Given the description of an element on the screen output the (x, y) to click on. 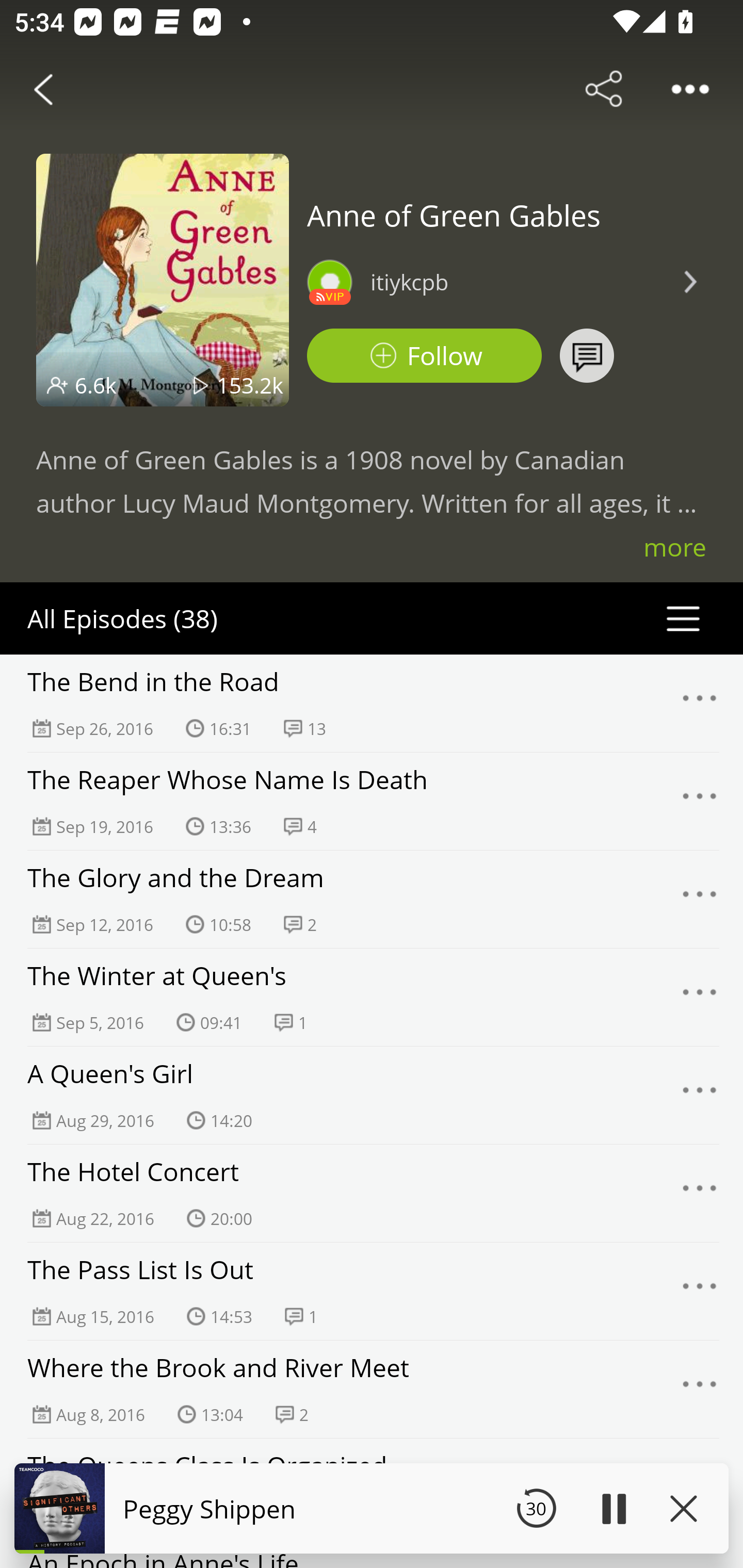
Back (43, 88)
Podbean Follow (423, 355)
6.6k (95, 384)
more (674, 546)
The Bend in the Road Sep 26, 2016 16:31 13 Menu (371, 702)
Menu (699, 703)
Menu (699, 801)
The Glory and the Dream Sep 12, 2016 10:58 2 Menu (371, 898)
Menu (699, 899)
The Winter at Queen's Sep 5, 2016 09:41 1 Menu (371, 996)
Menu (699, 997)
A Queen's Girl Aug 29, 2016 14:20 Menu (371, 1094)
Menu (699, 1095)
The Hotel Concert Aug 22, 2016 20:00 Menu (371, 1192)
Menu (699, 1193)
The Pass List Is Out Aug 15, 2016 14:53 1 Menu (371, 1290)
Menu (699, 1291)
Menu (699, 1389)
Peggy Shippen 30 Seek Backward 134961.0 Play (371, 1508)
Play (613, 1507)
30 Seek Backward (536, 1508)
